Given the description of an element on the screen output the (x, y) to click on. 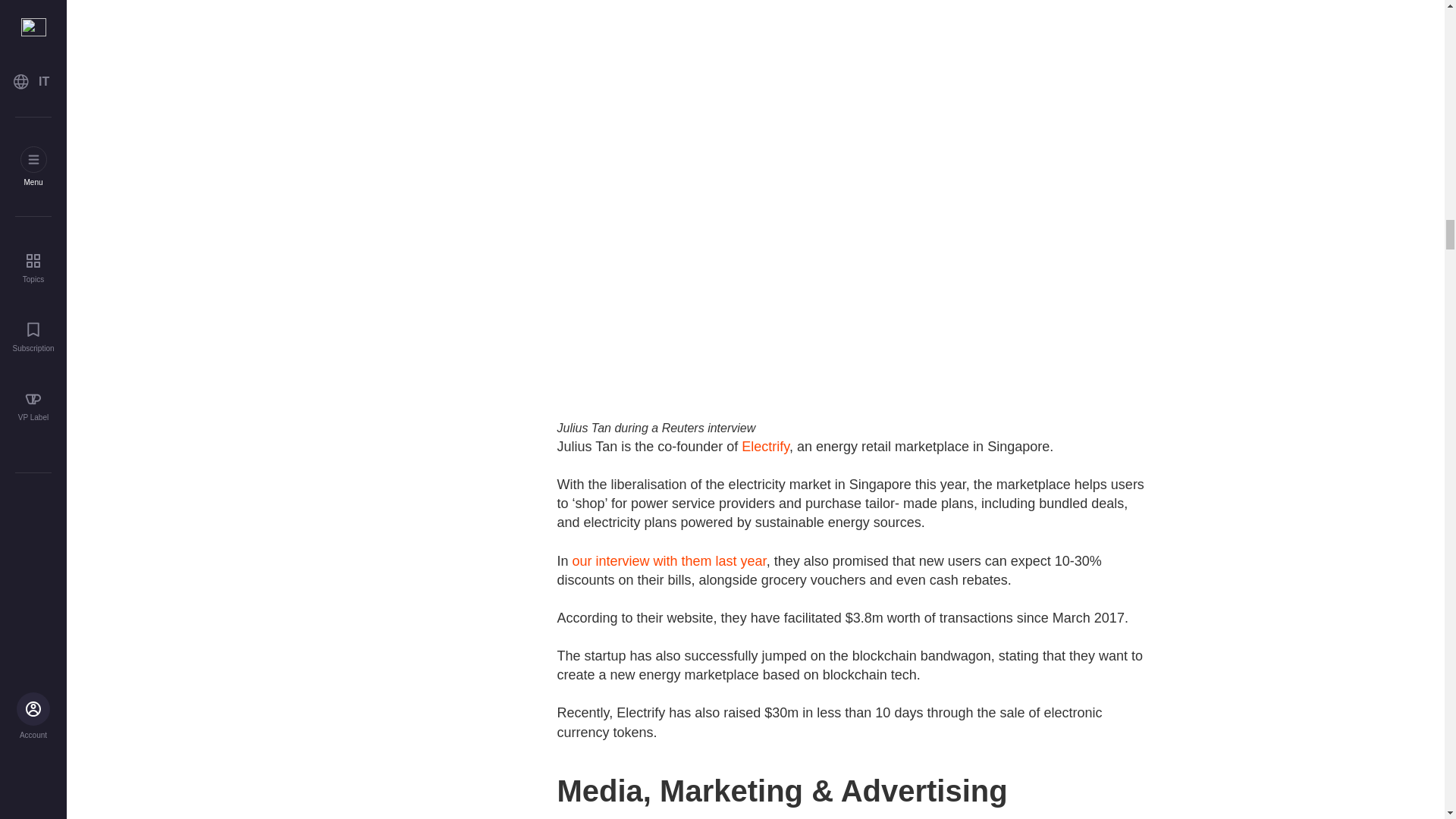
our interview with them last year (669, 560)
Electrify (765, 446)
